Given the description of an element on the screen output the (x, y) to click on. 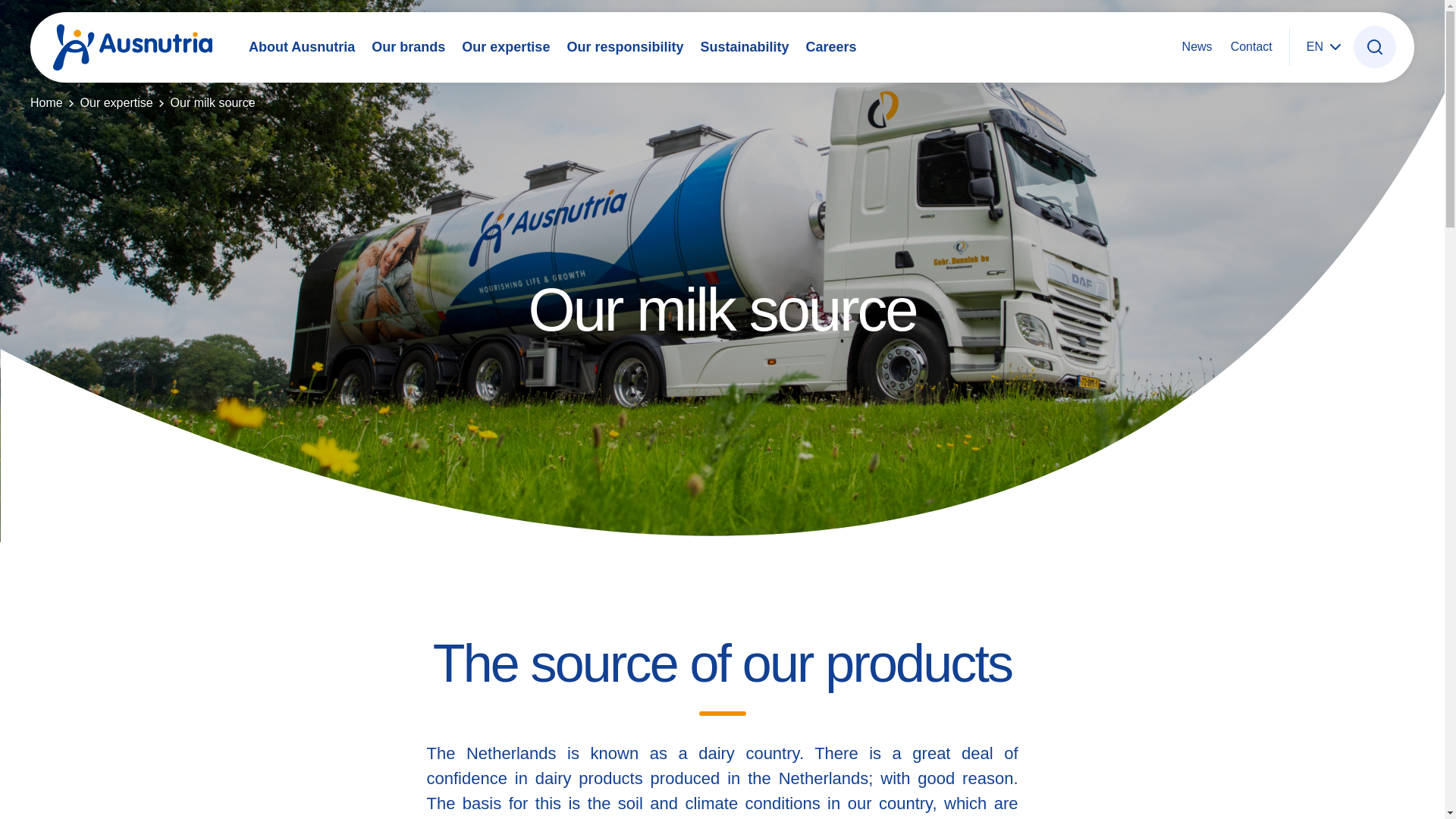
Sustainability (744, 46)
Our responsibility (624, 46)
Search (1374, 46)
News (1197, 46)
Careers (830, 46)
Our expertise (505, 46)
Our brands (408, 46)
Ausnutria (132, 47)
About Ausnutria (301, 46)
Contact (1251, 46)
